Given the description of an element on the screen output the (x, y) to click on. 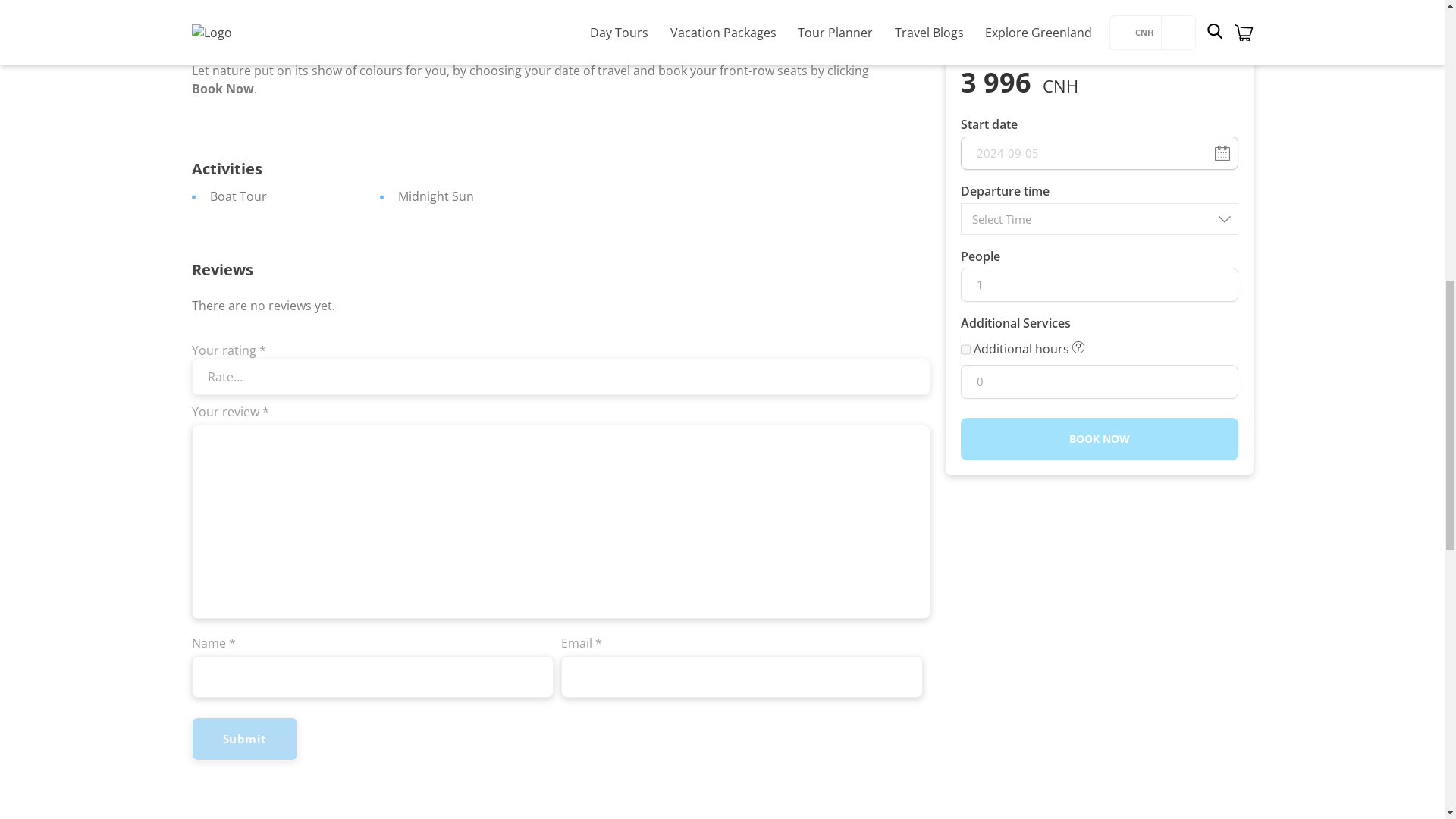
1 (1098, 6)
Submit (243, 738)
0 (1098, 91)
